Given the description of an element on the screen output the (x, y) to click on. 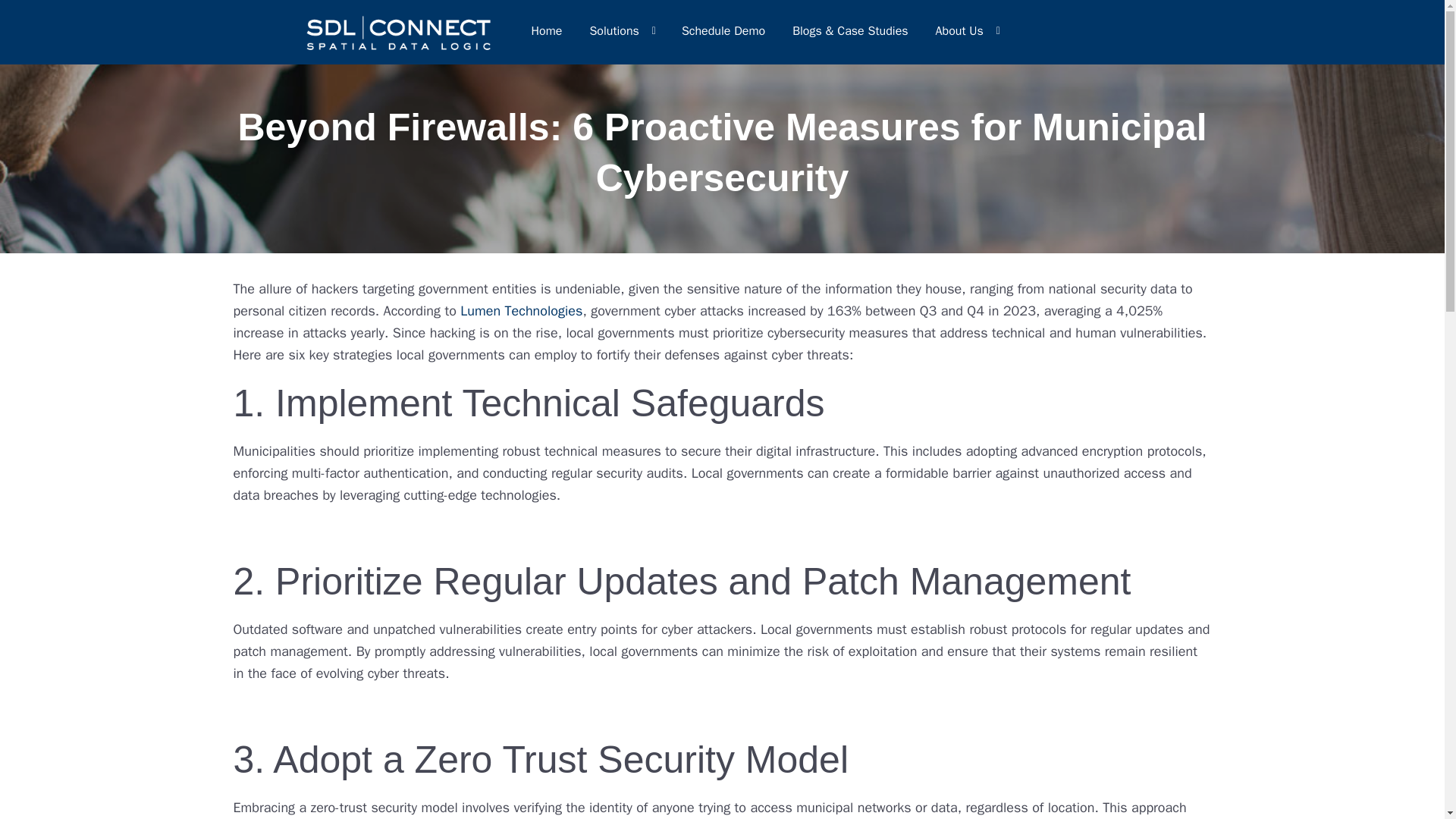
Lumen Technologies (521, 310)
Schedule Demo (723, 30)
Home (545, 30)
Solutions (620, 30)
About Us (966, 30)
